Given the description of an element on the screen output the (x, y) to click on. 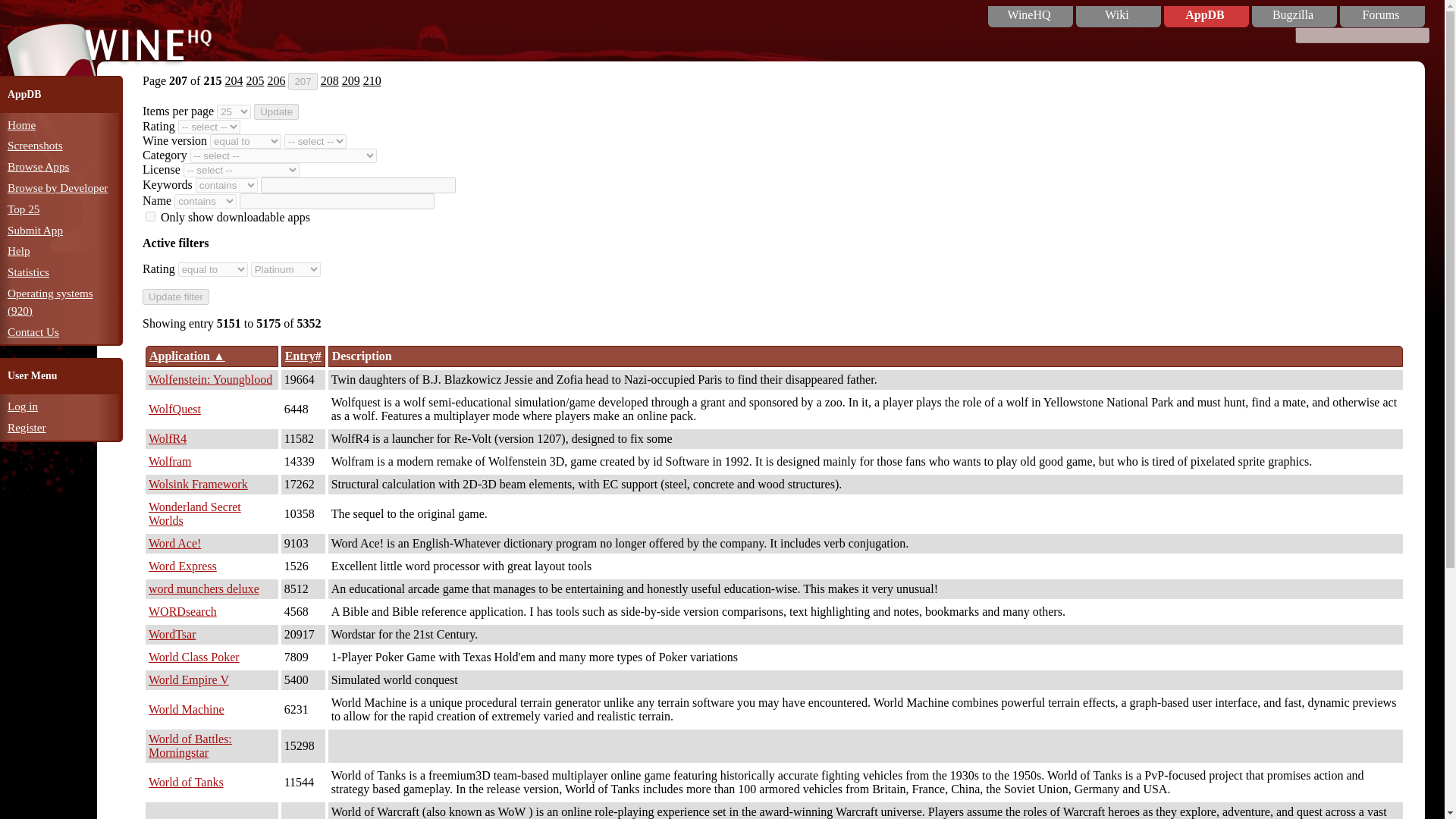
Forums (1380, 15)
Wiki (1116, 15)
210 (371, 80)
Wolsink Framework (197, 483)
Contact Us (33, 331)
209 (350, 80)
Help (18, 250)
Screenshots (34, 144)
205 (254, 80)
Submit App (34, 229)
Home (20, 124)
Top 25 (23, 208)
207 (302, 81)
206 (275, 80)
Browse Apps (37, 165)
